Given the description of an element on the screen output the (x, y) to click on. 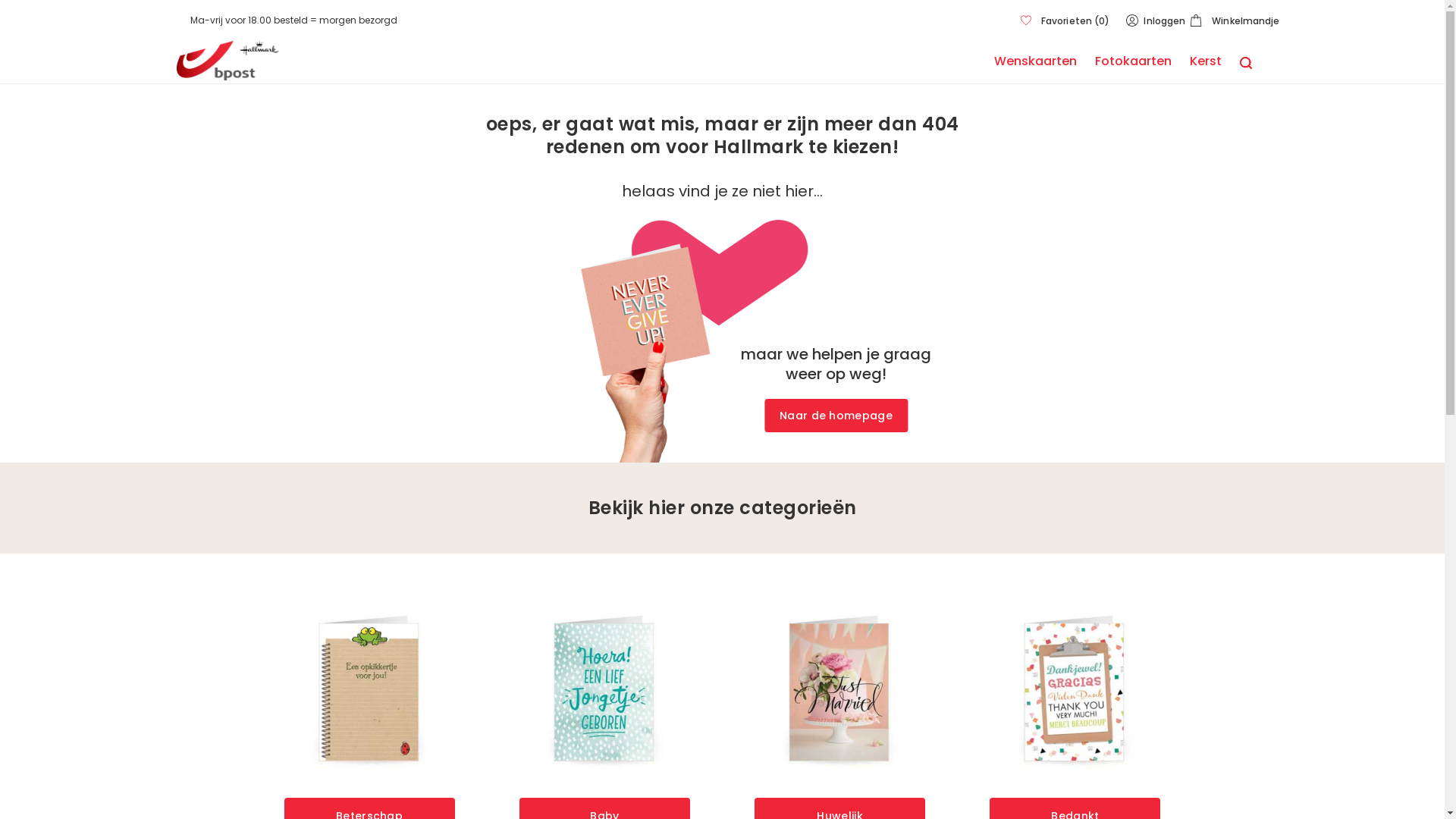
Naar de homepage Element type: text (835, 415)
Favorieten (0) Element type: text (1065, 20)
Inloggen Element type: text (1153, 20)
Favorieten (0) Element type: text (1065, 20)
Kerst Element type: text (1204, 64)
Fotokaarten Element type: text (1132, 64)
Wenskaarten Element type: text (1034, 64)
Kaartjes online versturen Element type: hover (226, 19)
